Given the description of an element on the screen output the (x, y) to click on. 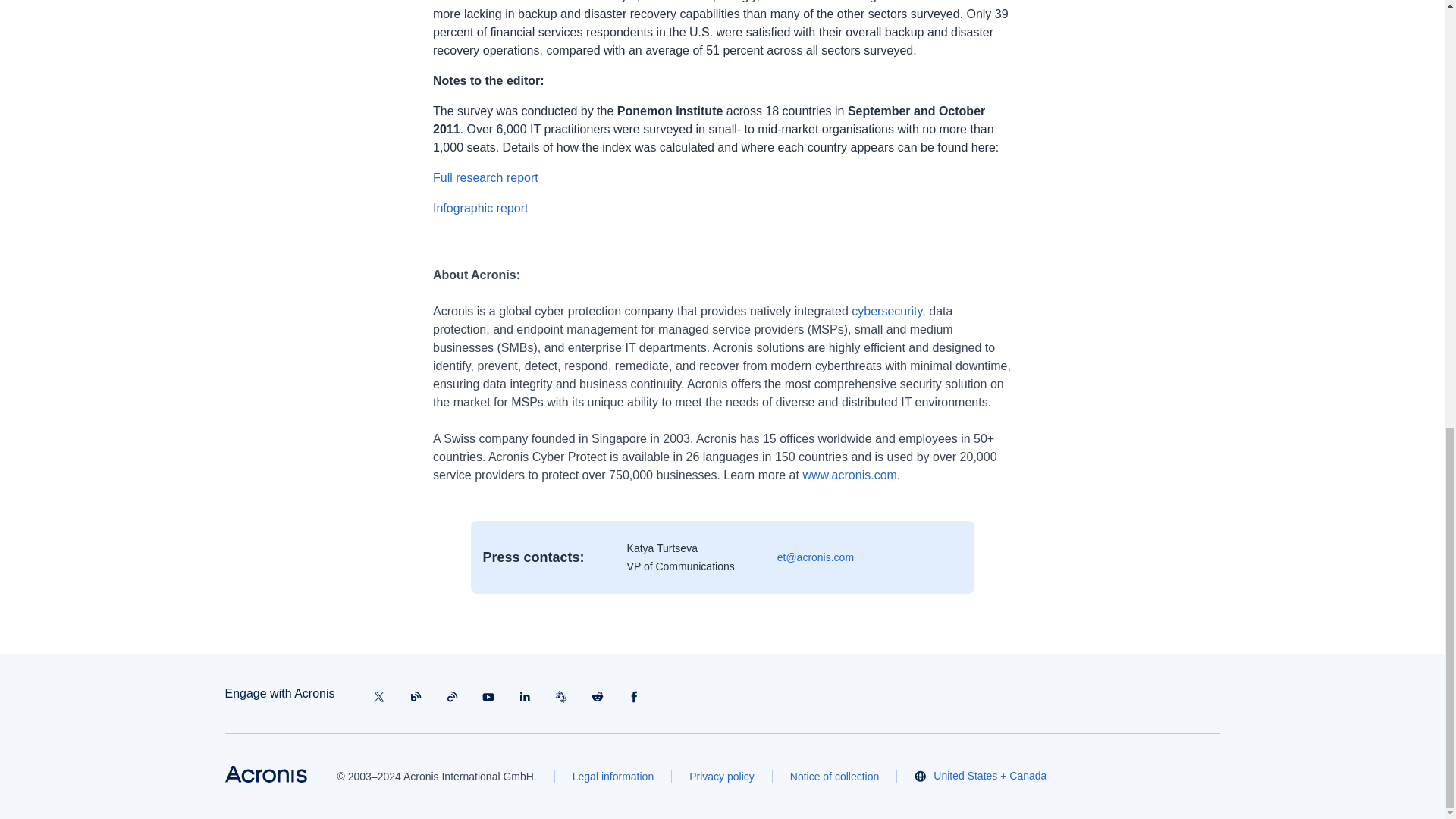
Acronis (264, 773)
